Given the description of an element on the screen output the (x, y) to click on. 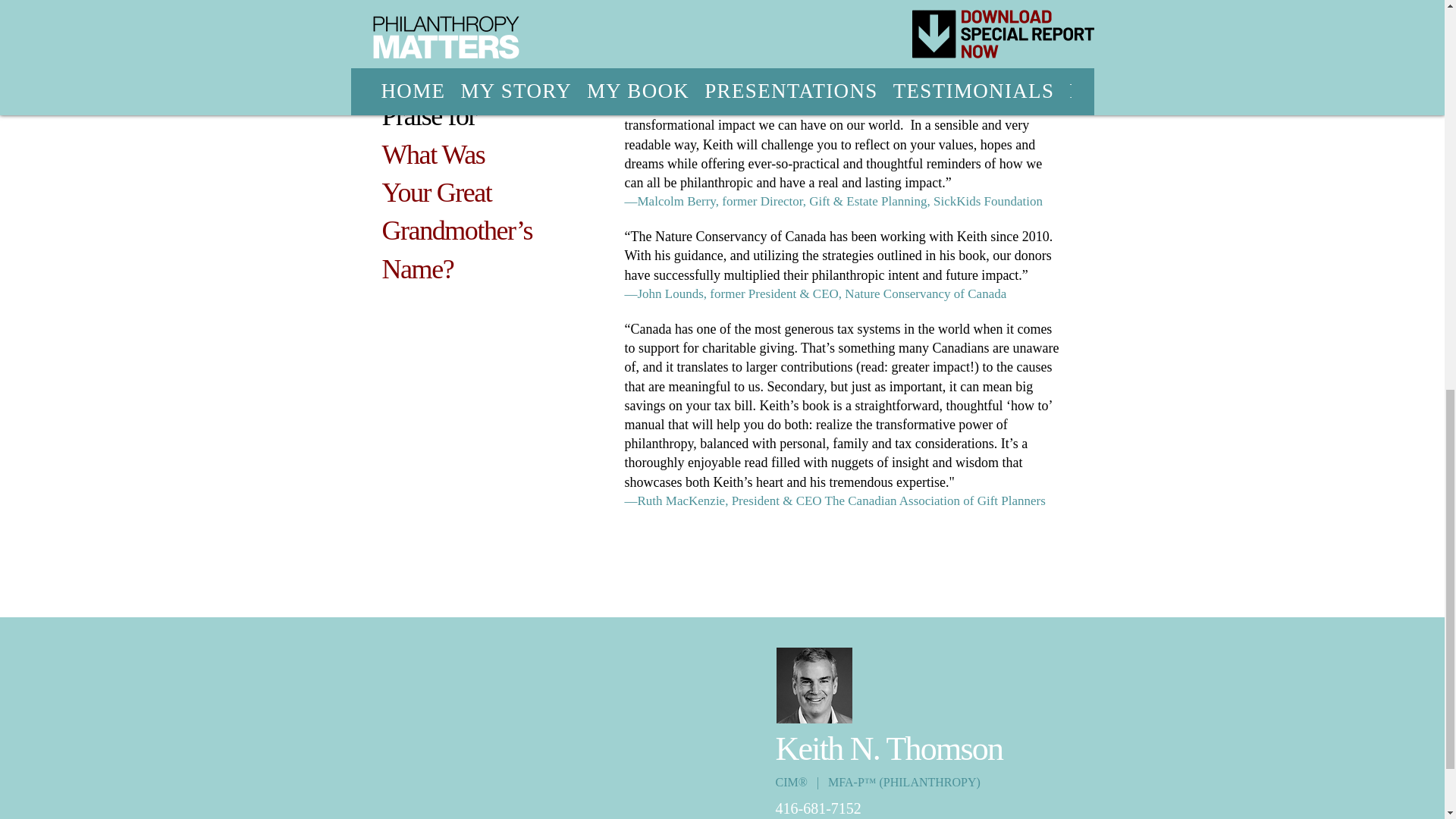
1.png (815, 10)
1.png (1000, 10)
1.png (628, 10)
1.png (445, 10)
